Given the description of an element on the screen output the (x, y) to click on. 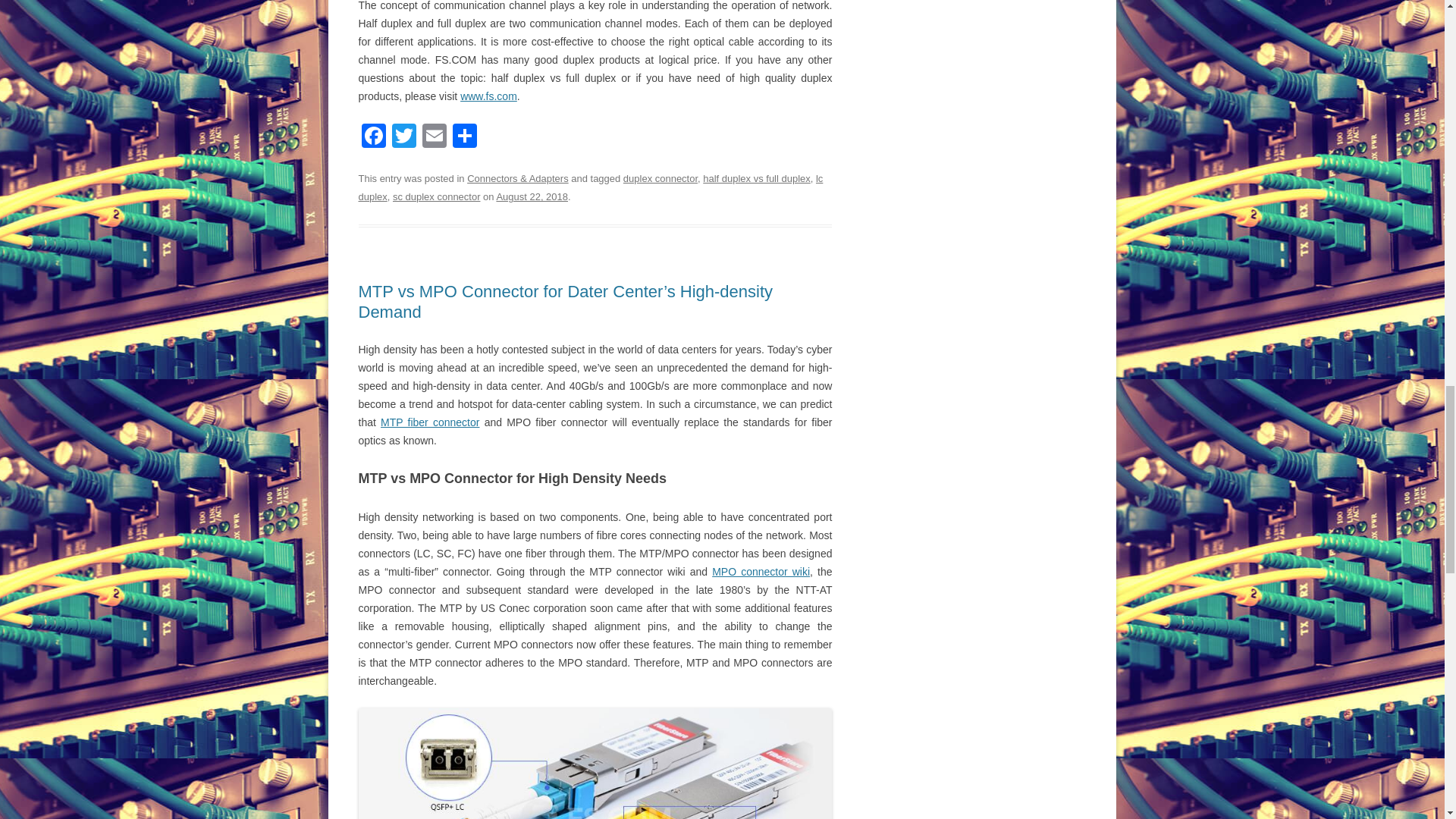
Facebook (373, 137)
lc duplex (590, 187)
MTP fiber connector (429, 422)
Facebook (373, 137)
duplex connector (660, 178)
sc duplex connector (436, 196)
www.fs.com (488, 96)
Email (433, 137)
Email (433, 137)
half duplex vs full duplex (756, 178)
